Given the description of an element on the screen output the (x, y) to click on. 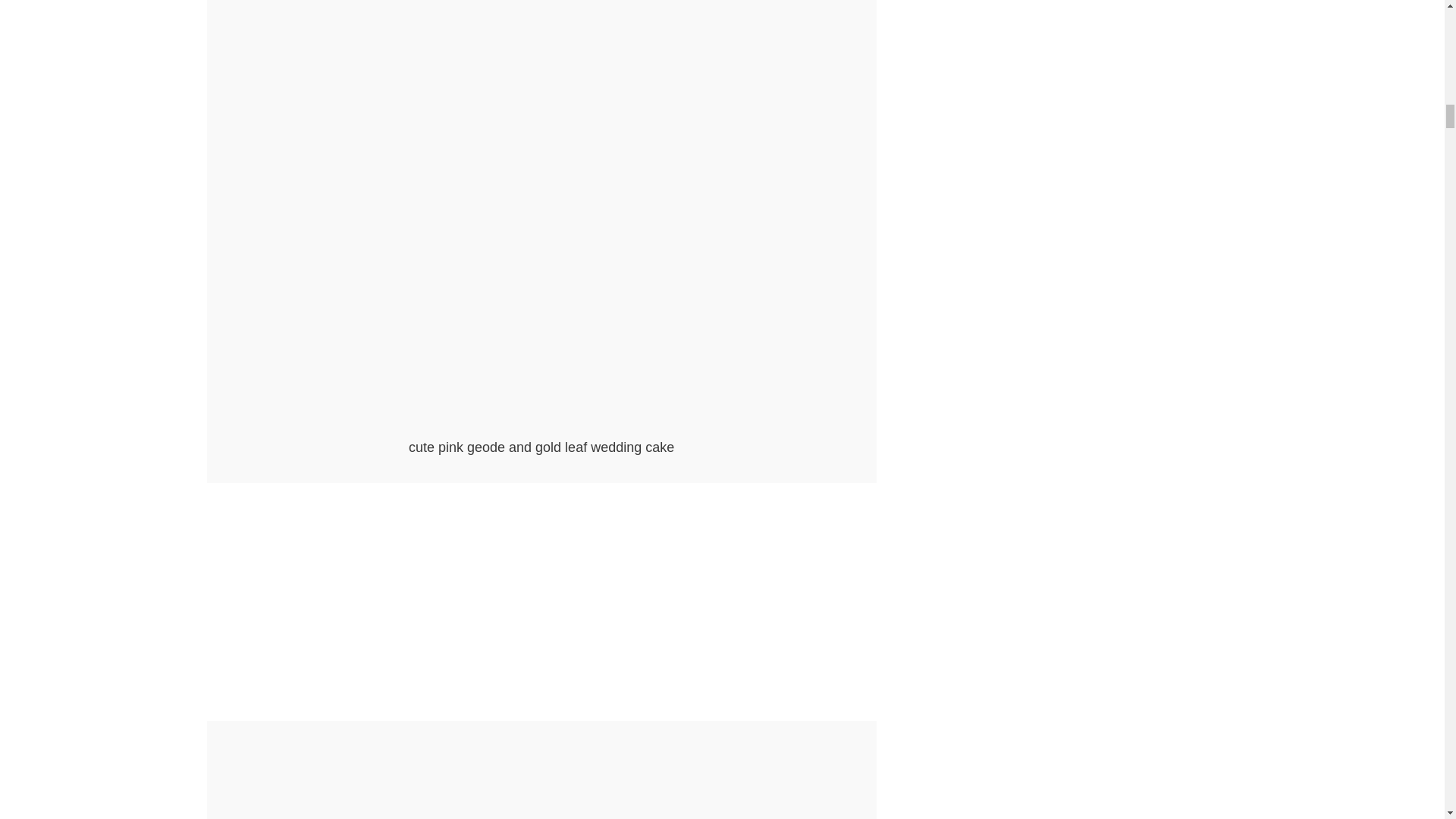
cute pink geode and gold leaf wedding cake (541, 427)
bold blue geode wedding cake with silver edges (541, 775)
